Given the description of an element on the screen output the (x, y) to click on. 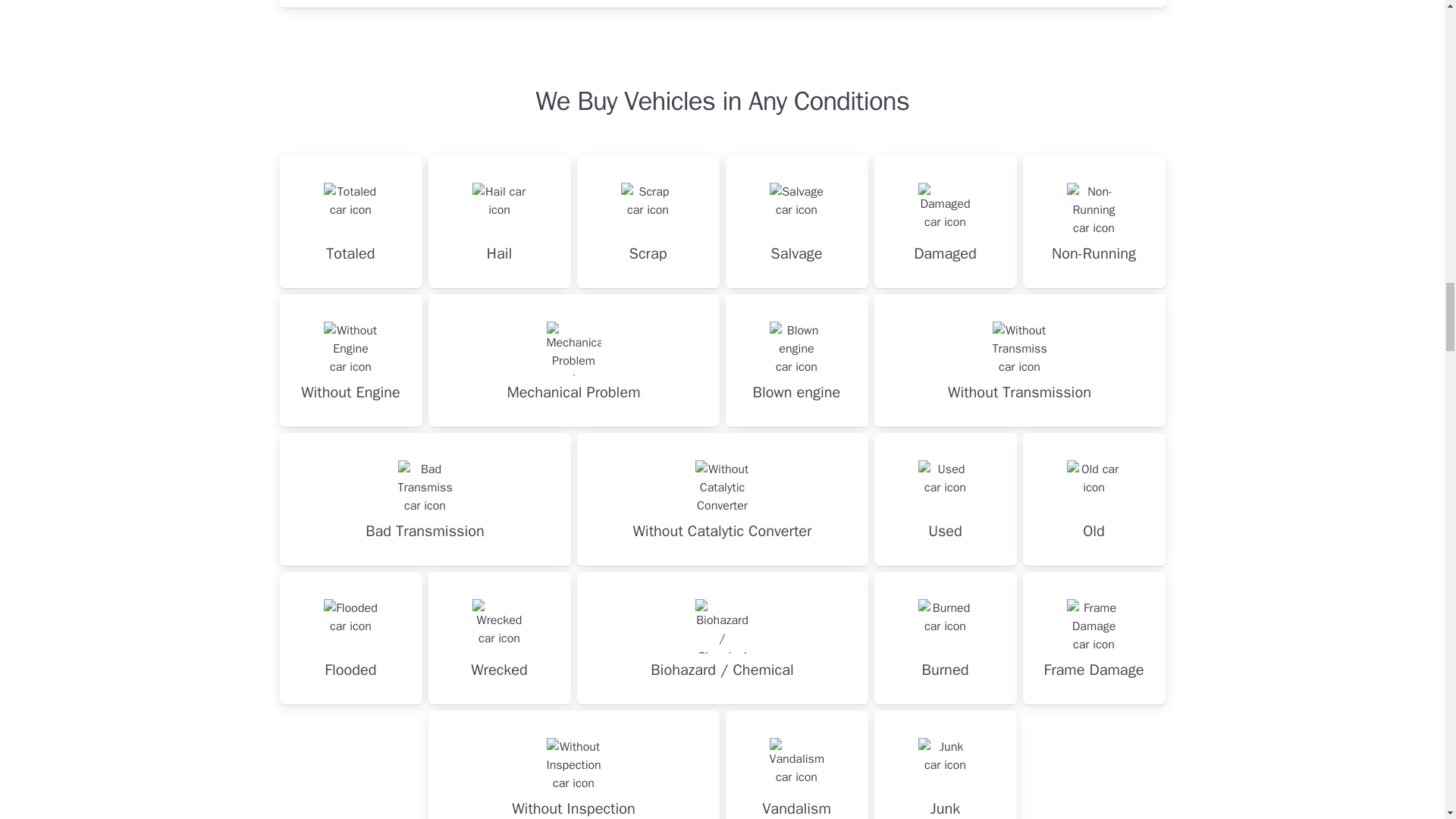
Non-Running (1093, 221)
Totaled (350, 221)
Used (944, 499)
Bad Transmission (424, 499)
Without Catalytic Converter (721, 499)
Hail (499, 221)
Damaged (944, 221)
Mechanical Problem (573, 360)
Without Engine (350, 360)
Scrap (647, 221)
Blown engine (796, 360)
Without Transmission (1018, 360)
Salvage (796, 221)
